Given the description of an element on the screen output the (x, y) to click on. 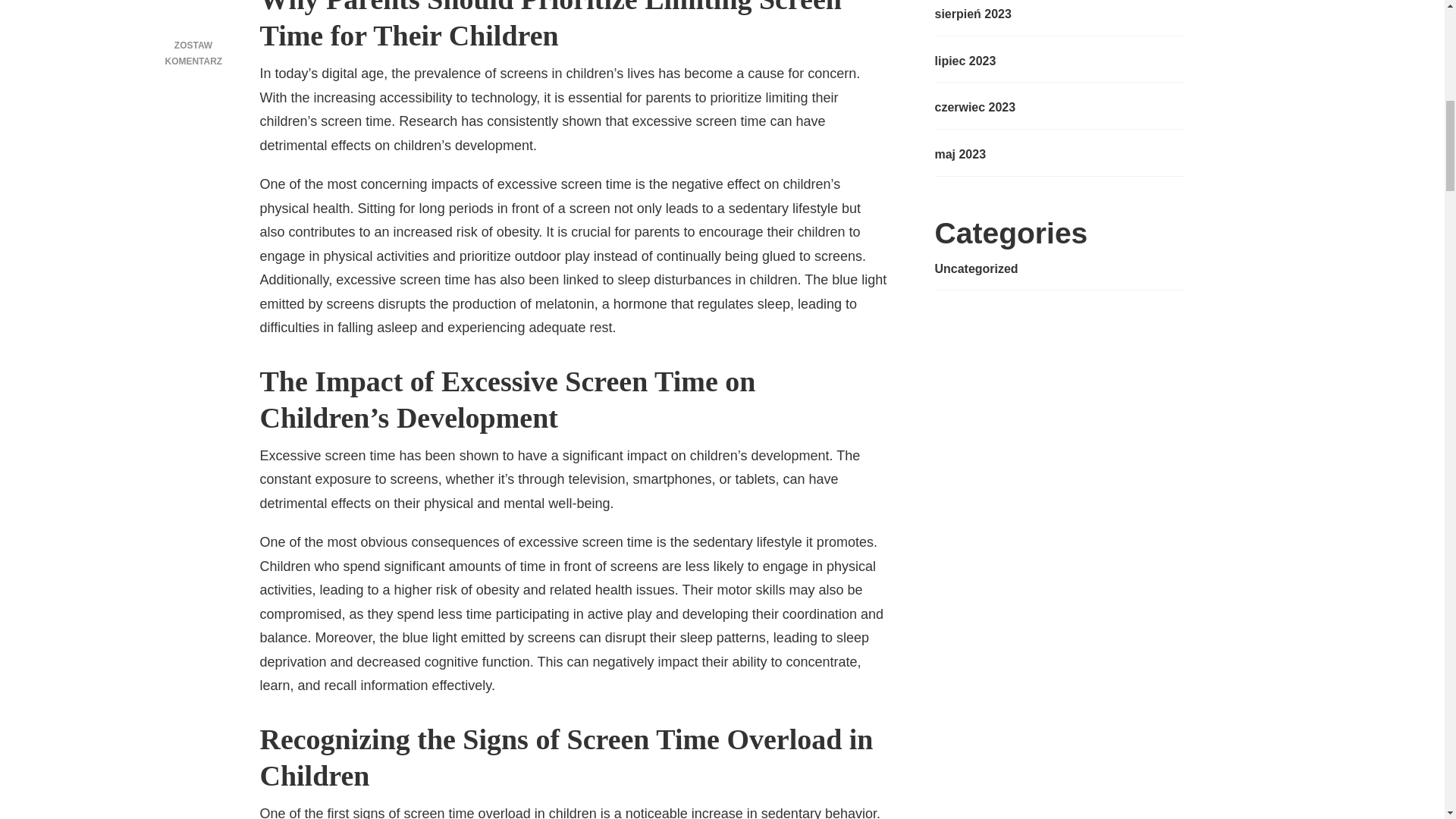
lipiec 2023 (964, 61)
Uncategorized (975, 269)
maj 2023 (959, 154)
czerwiec 2023 (974, 107)
